Given the description of an element on the screen output the (x, y) to click on. 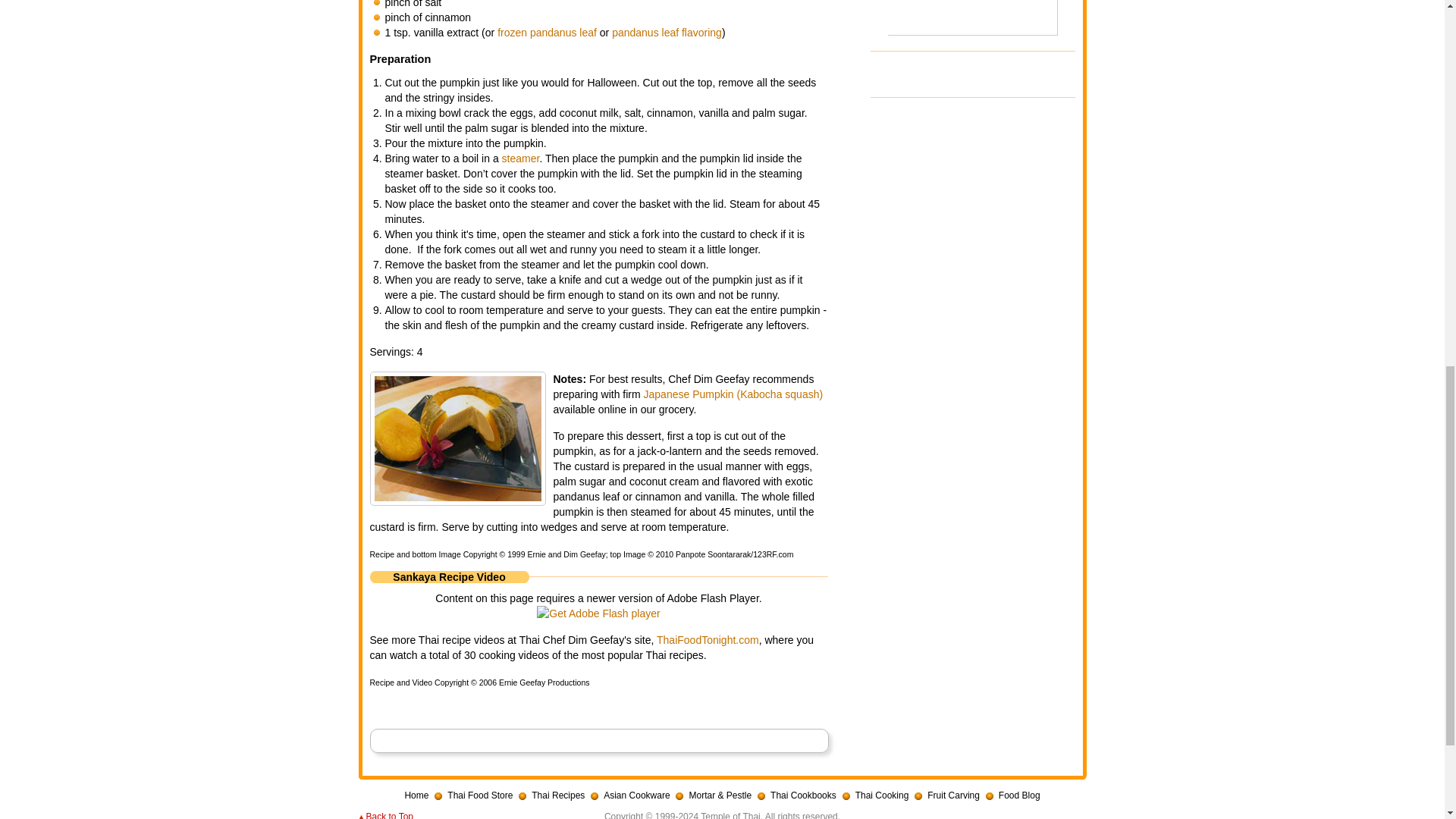
Temple of Thai Home (416, 795)
Authentic Thai Recipes (551, 795)
frozen pandanus leaf (546, 32)
pandanus leaf flavoring (666, 32)
steamer (521, 158)
Online Asian Grocery (472, 795)
